Given the description of an element on the screen output the (x, y) to click on. 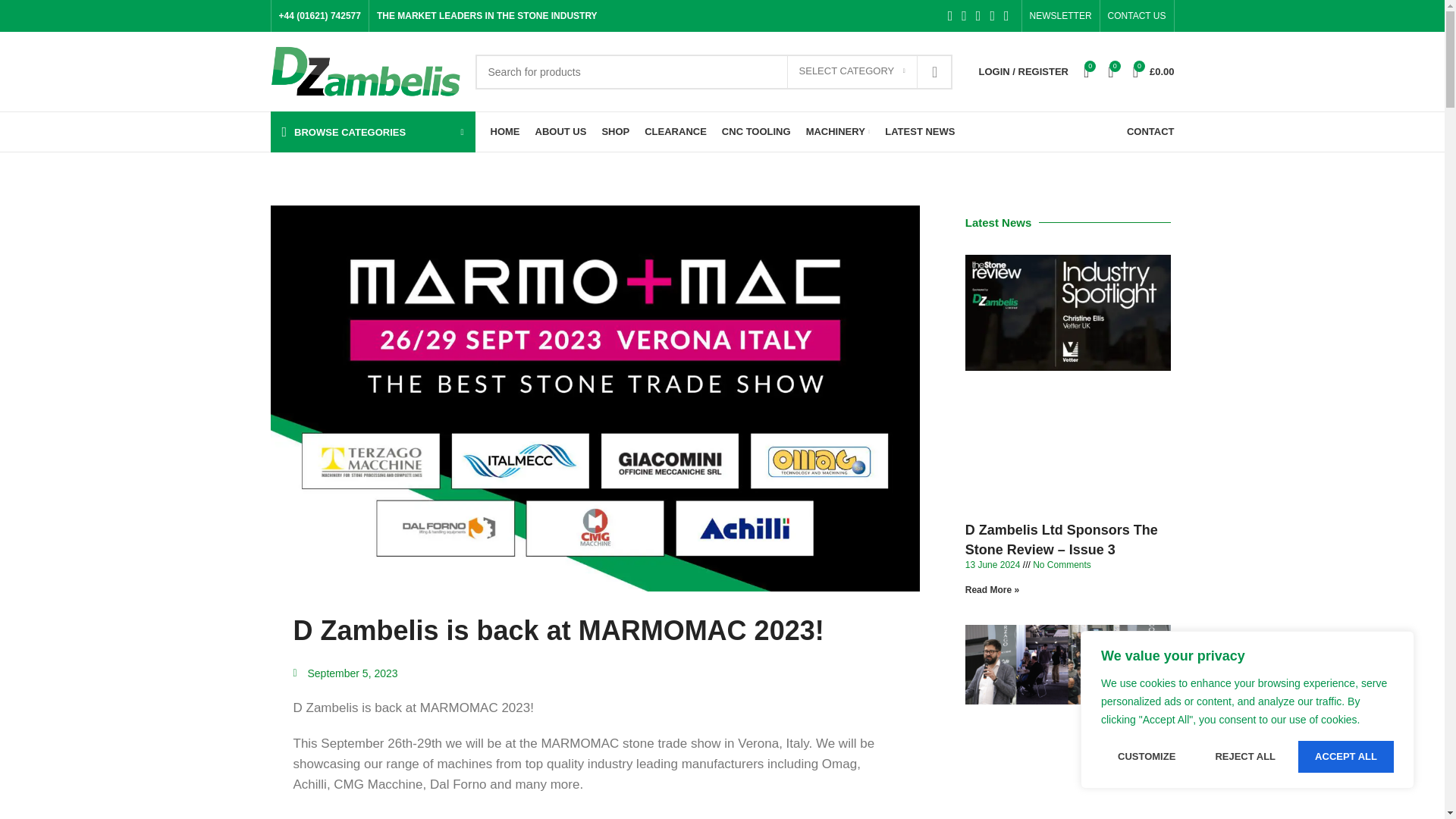
Search for products (713, 71)
CUSTOMIZE (1146, 757)
Shopping cart (1153, 71)
ACCEPT ALL (1345, 757)
SELECT CATEGORY (852, 71)
My account (1023, 71)
CONTACT US (1137, 15)
SELECT CATEGORY (852, 71)
NEWSLETTER (1060, 15)
REJECT ALL (1245, 757)
